Given the description of an element on the screen output the (x, y) to click on. 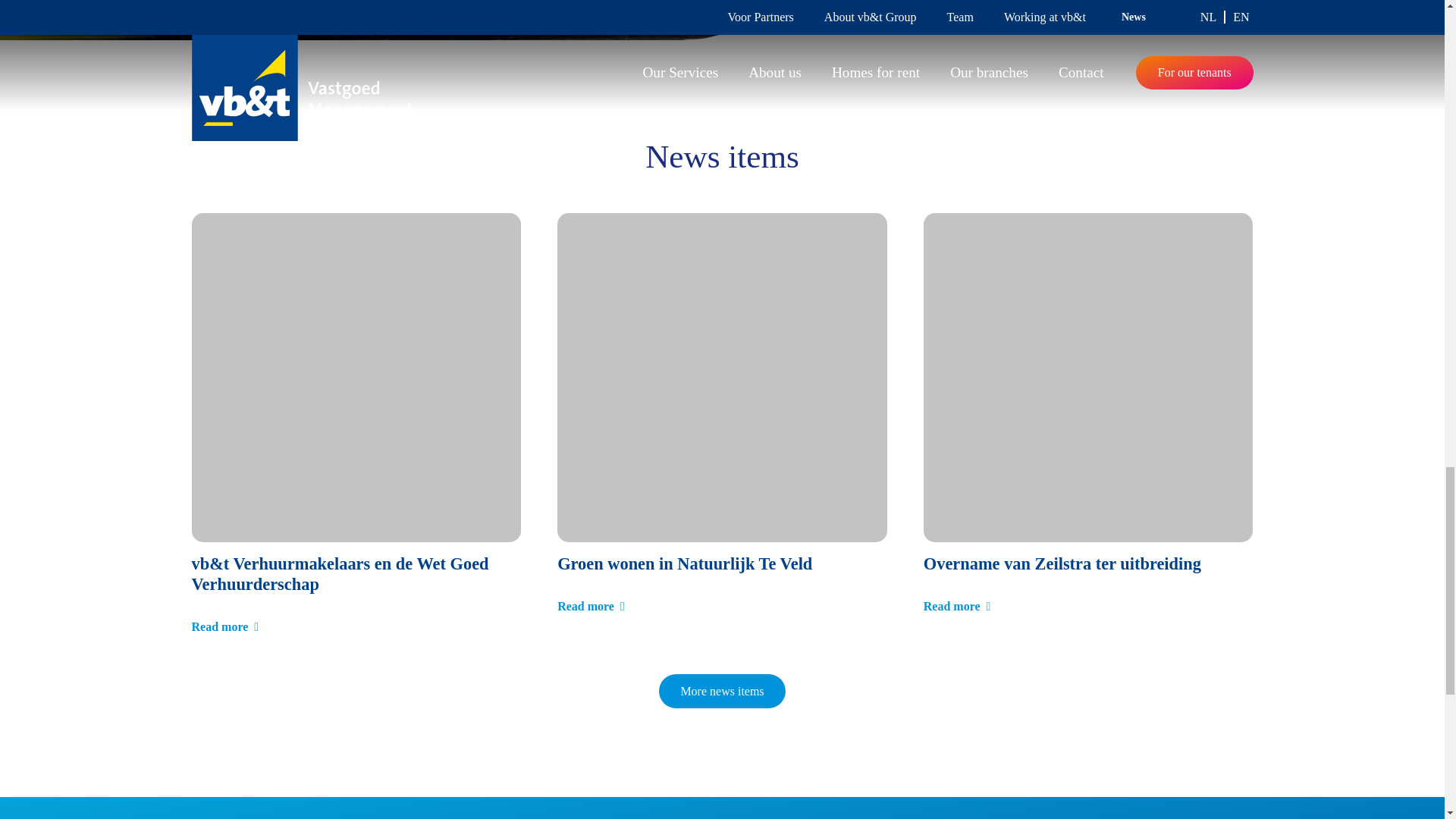
Read more (224, 626)
Read more (590, 605)
Groen wonen in Natuurlijk Te Veld (684, 563)
